Given the description of an element on the screen output the (x, y) to click on. 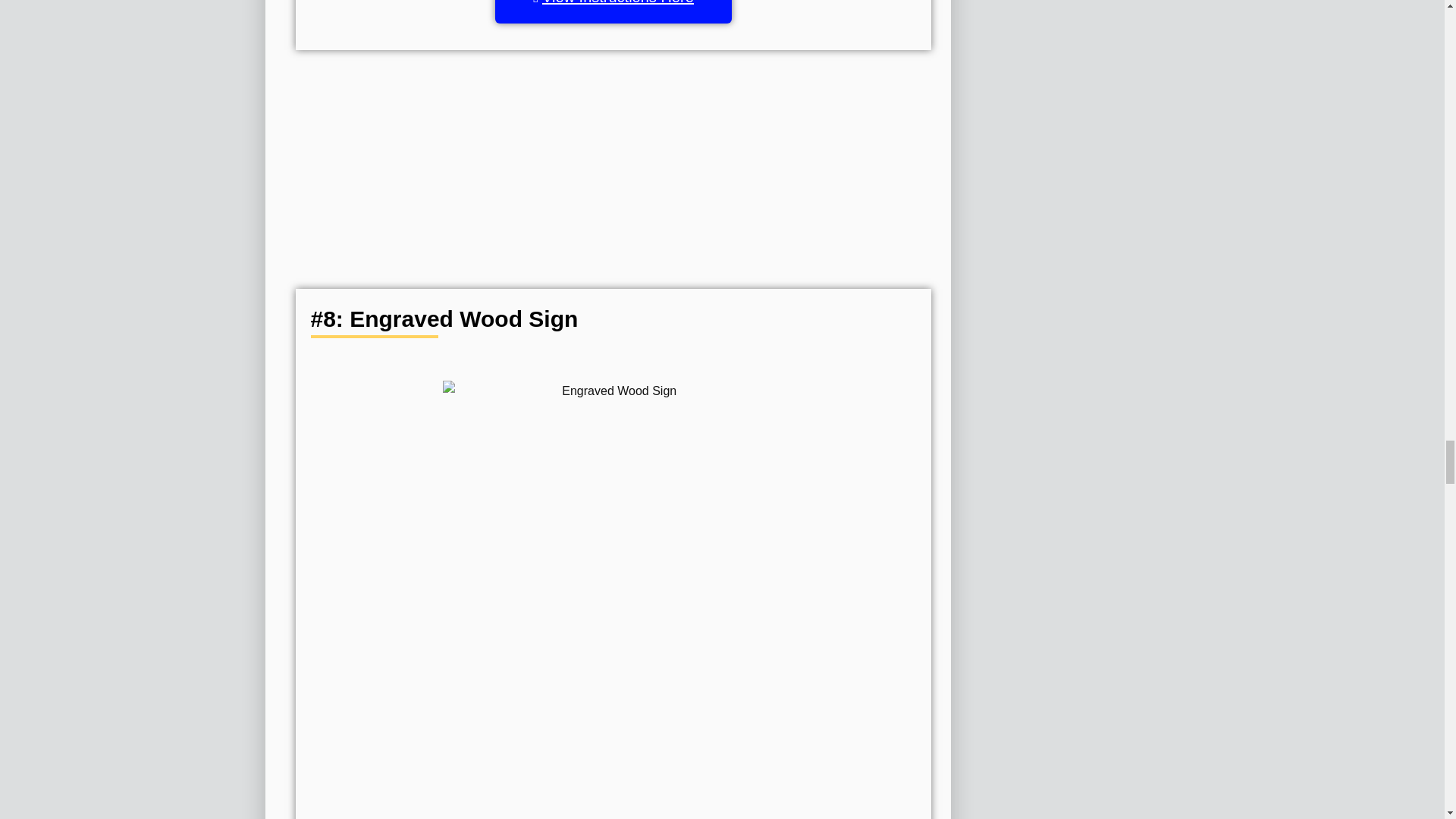
View Instructions Here (613, 11)
Engraved Wood Sign (613, 520)
